Given the description of an element on the screen output the (x, y) to click on. 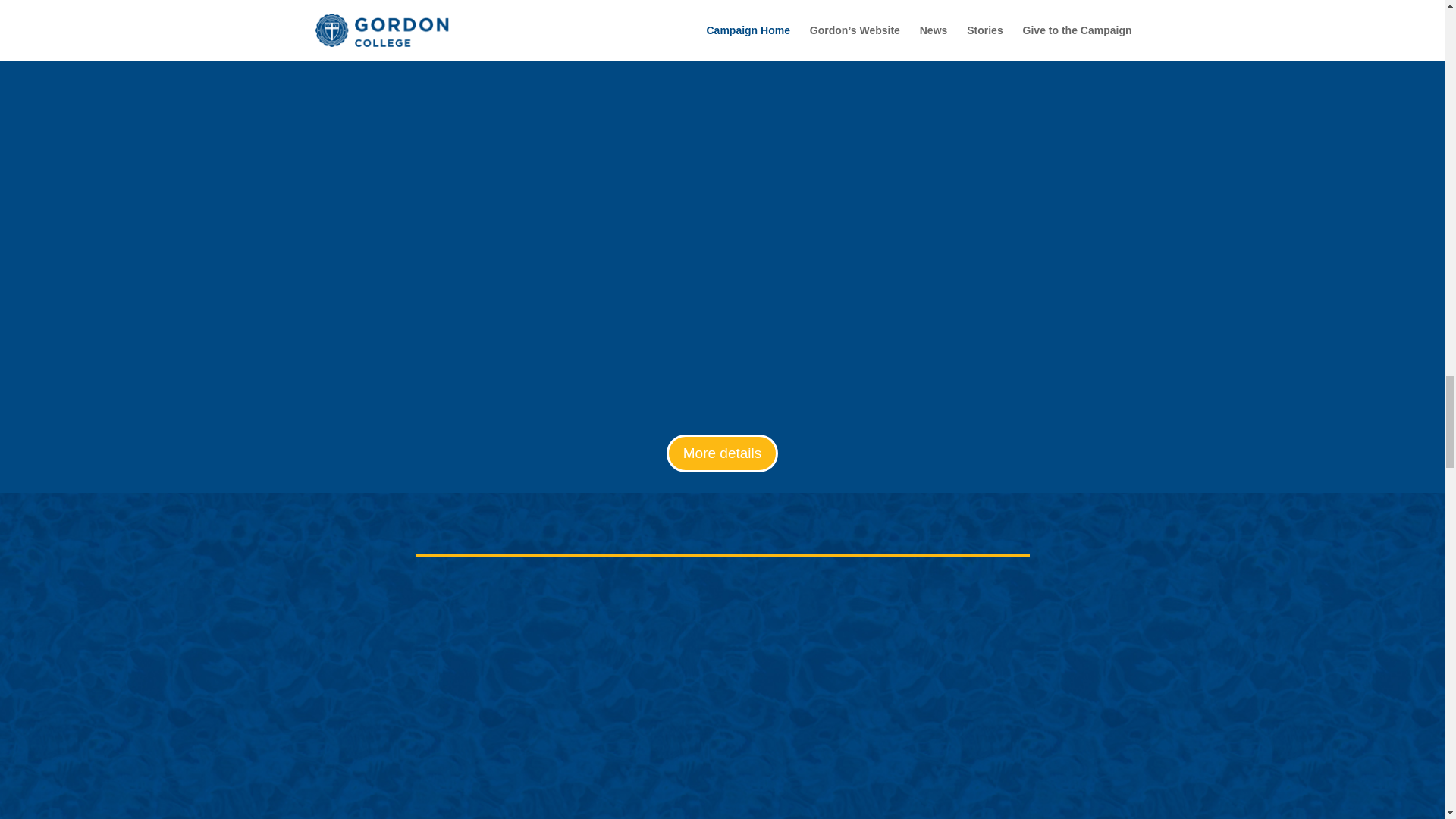
More details (722, 453)
